Given the description of an element on the screen output the (x, y) to click on. 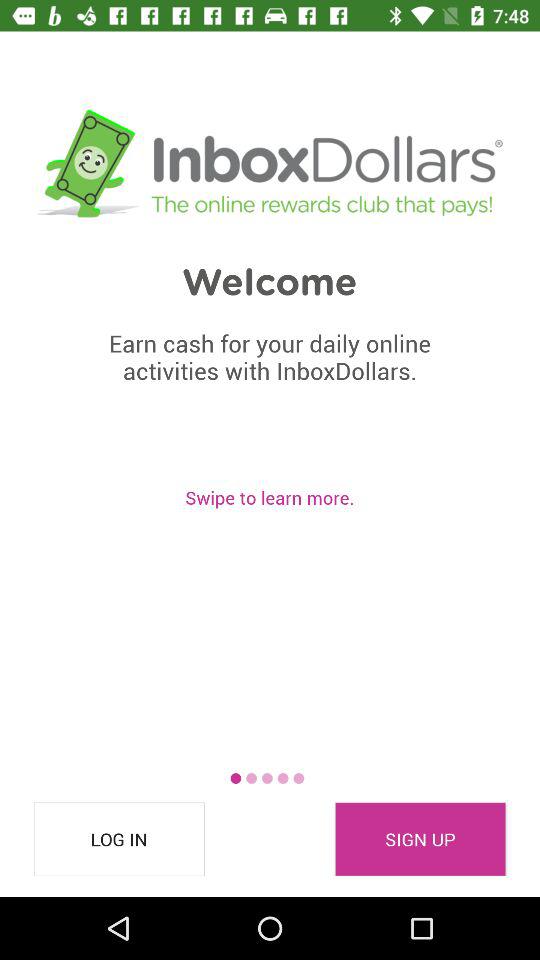
launch the icon to the left of sign up (119, 839)
